Given the description of an element on the screen output the (x, y) to click on. 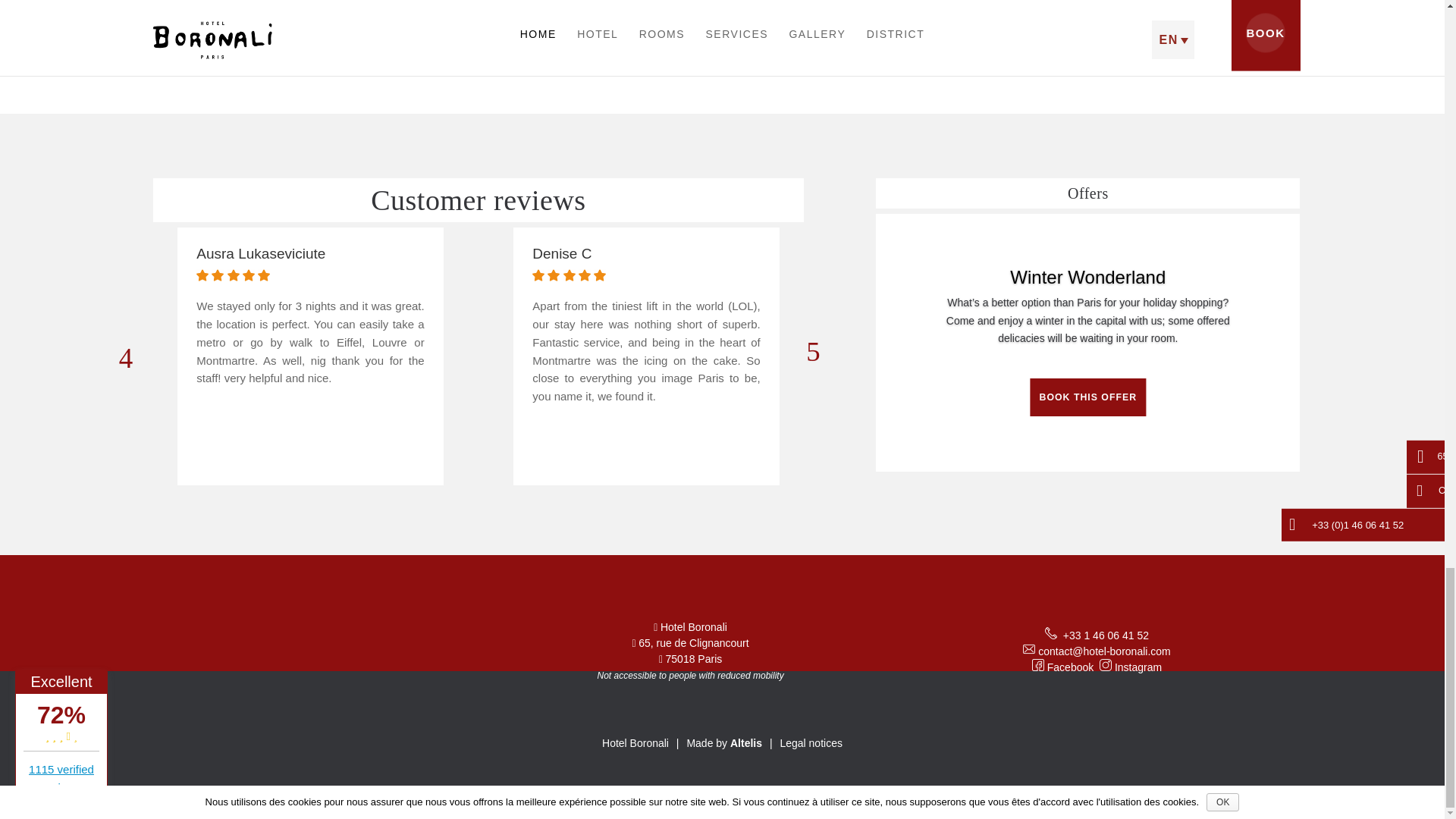
Made by Altelis (723, 743)
Facebook (1069, 666)
Hotel Boronali (635, 743)
Instagram (1138, 666)
Facebook (1069, 666)
Legal notices (810, 743)
